Given the description of an element on the screen output the (x, y) to click on. 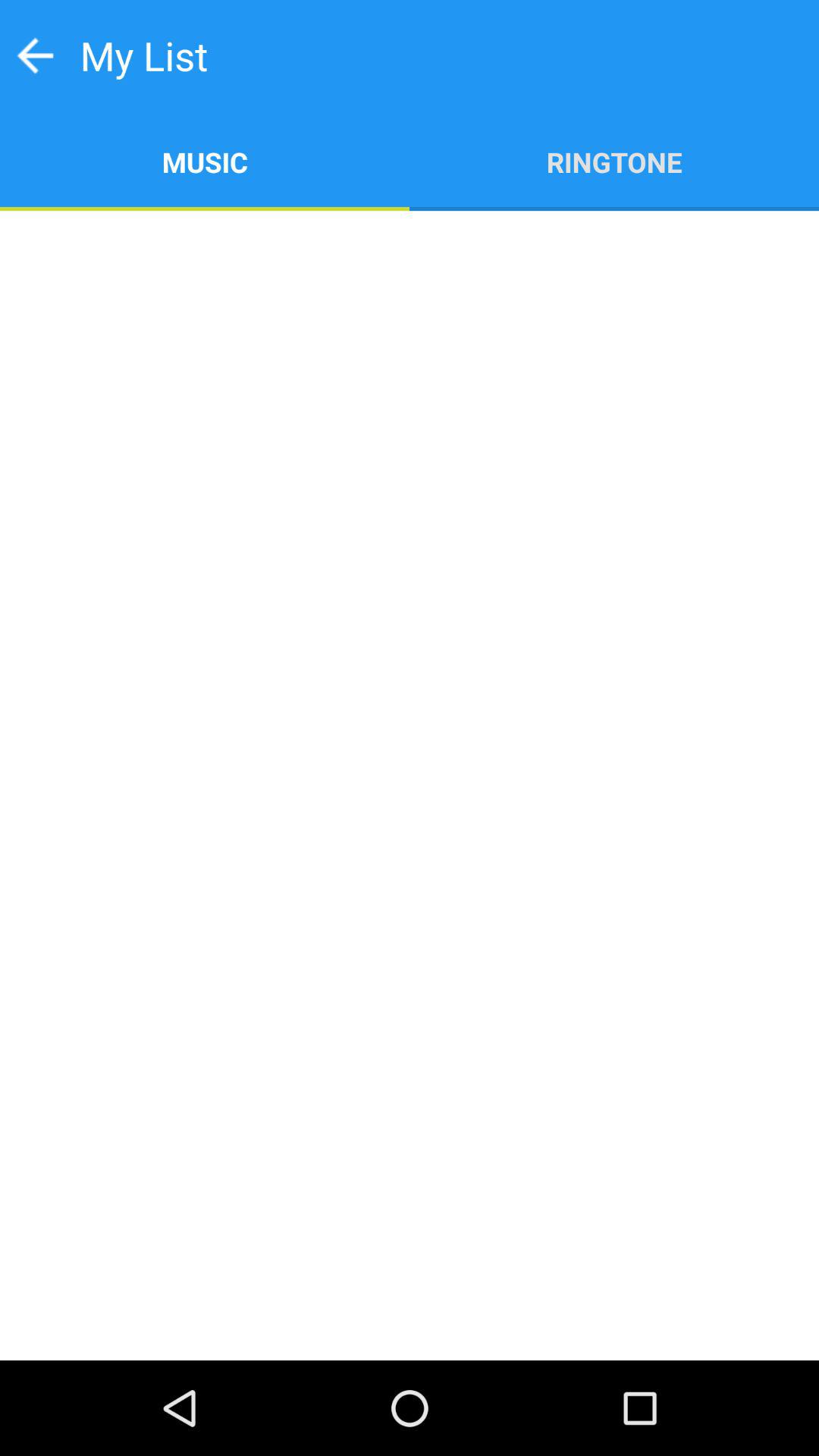
select item below my list (204, 161)
